Given the description of an element on the screen output the (x, y) to click on. 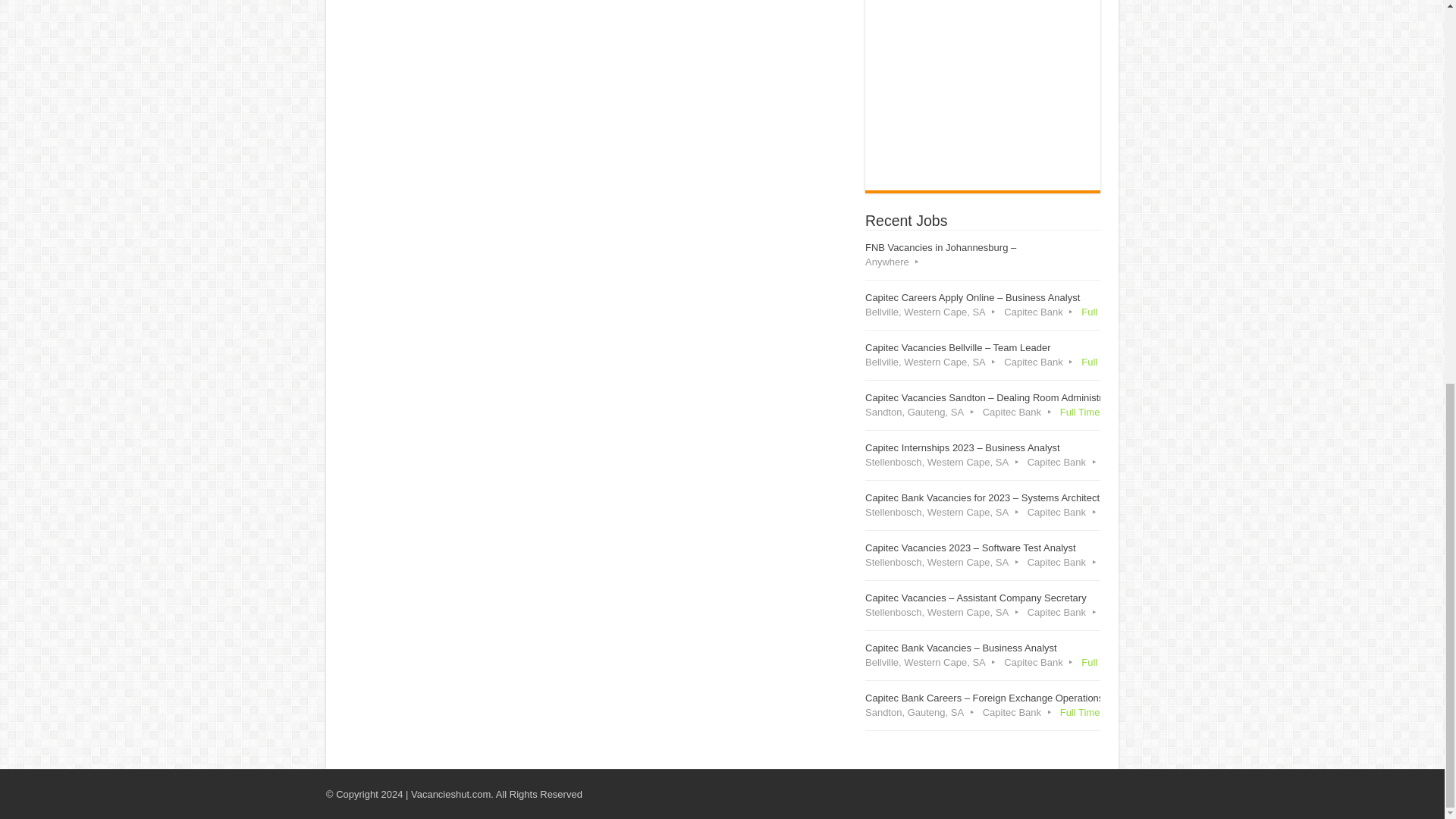
Advertisement (982, 91)
